Given the description of an element on the screen output the (x, y) to click on. 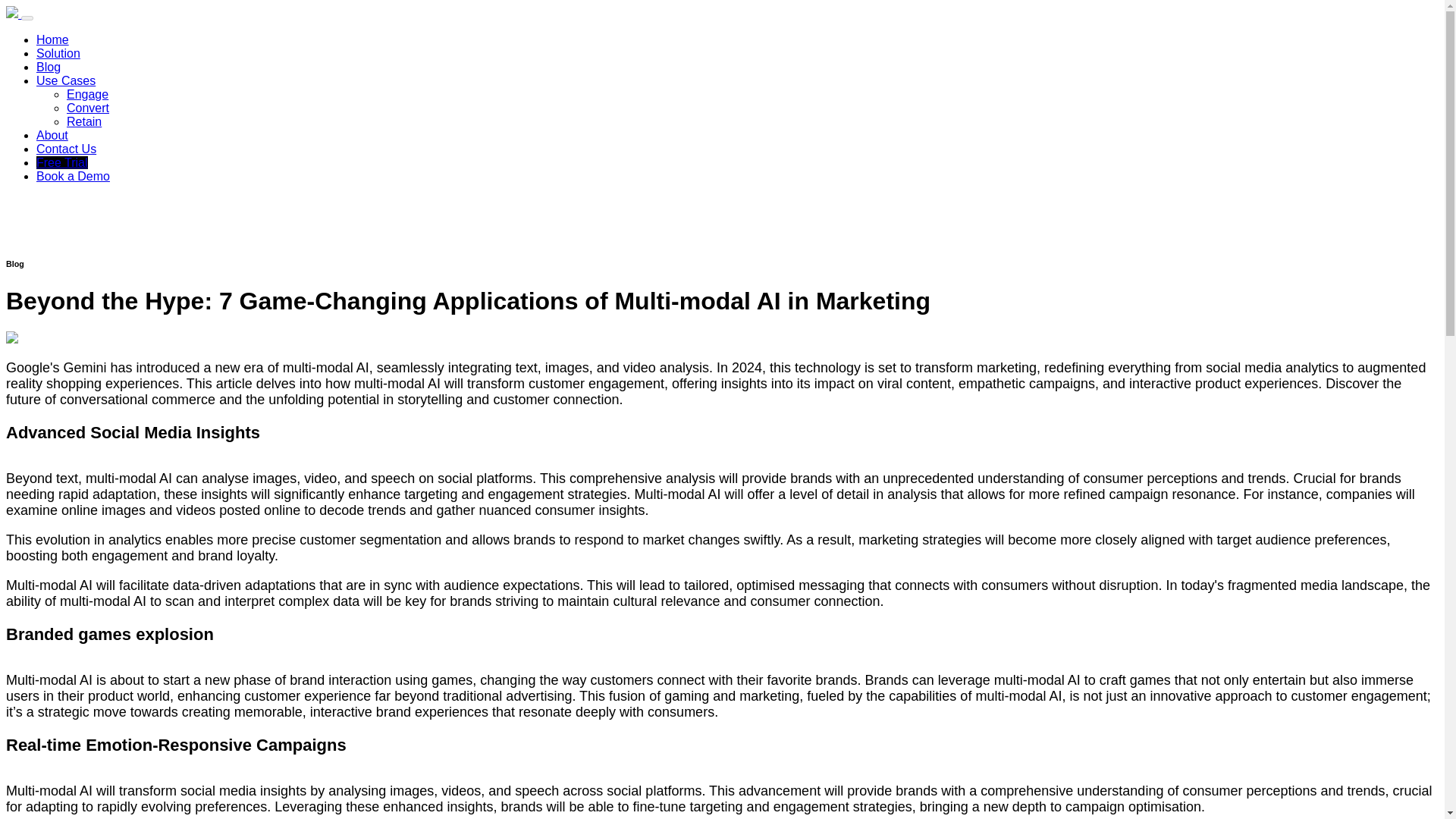
Free Trial (61, 162)
Retain (83, 121)
Convert (87, 107)
Use Cases (66, 80)
Contact Us (66, 148)
Engage (86, 93)
About (52, 134)
Solution (58, 52)
Home (52, 39)
Blog (48, 66)
Book a Demo (73, 175)
